Given the description of an element on the screen output the (x, y) to click on. 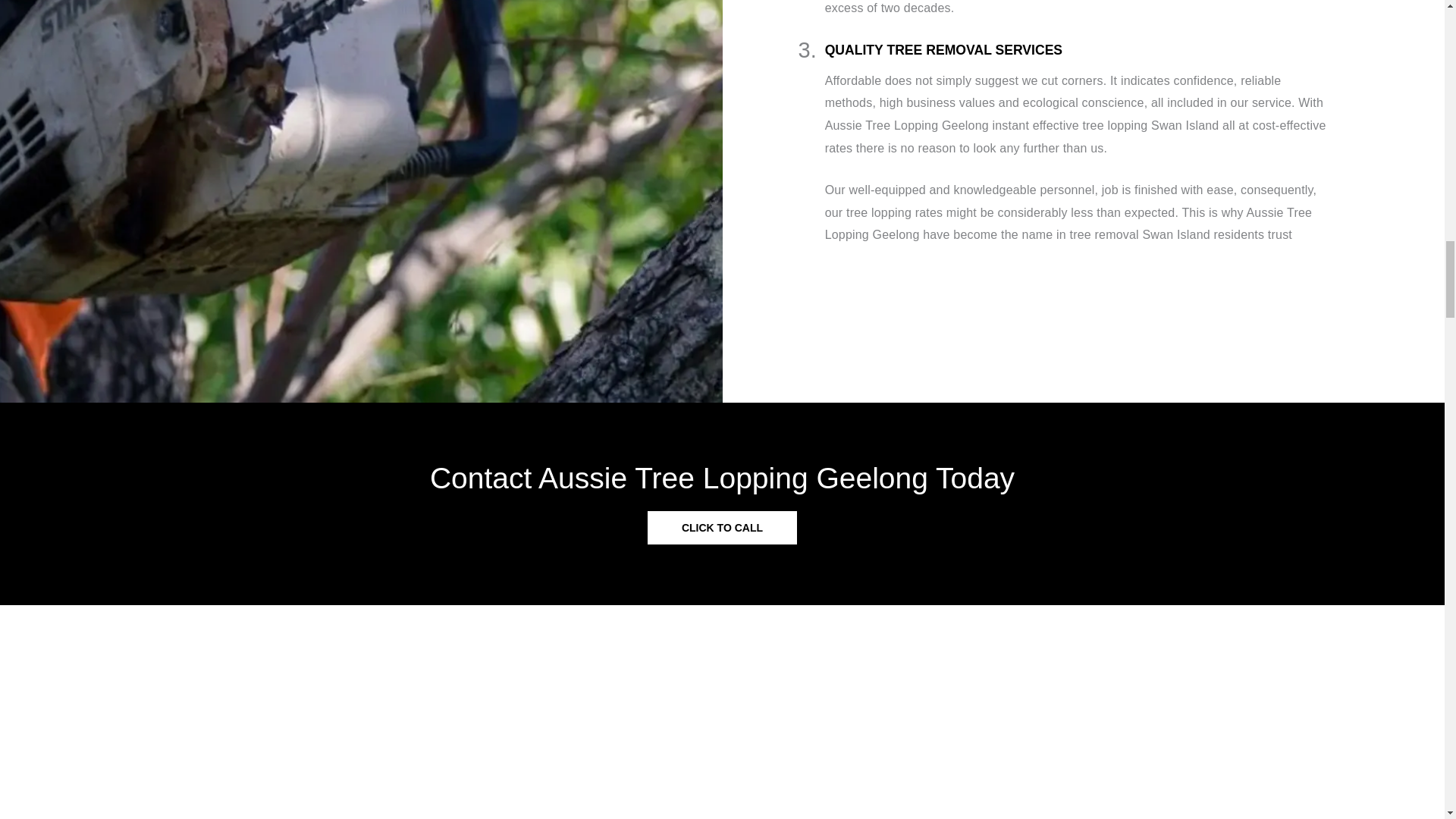
CLICK TO CALL (721, 527)
